Given the description of an element on the screen output the (x, y) to click on. 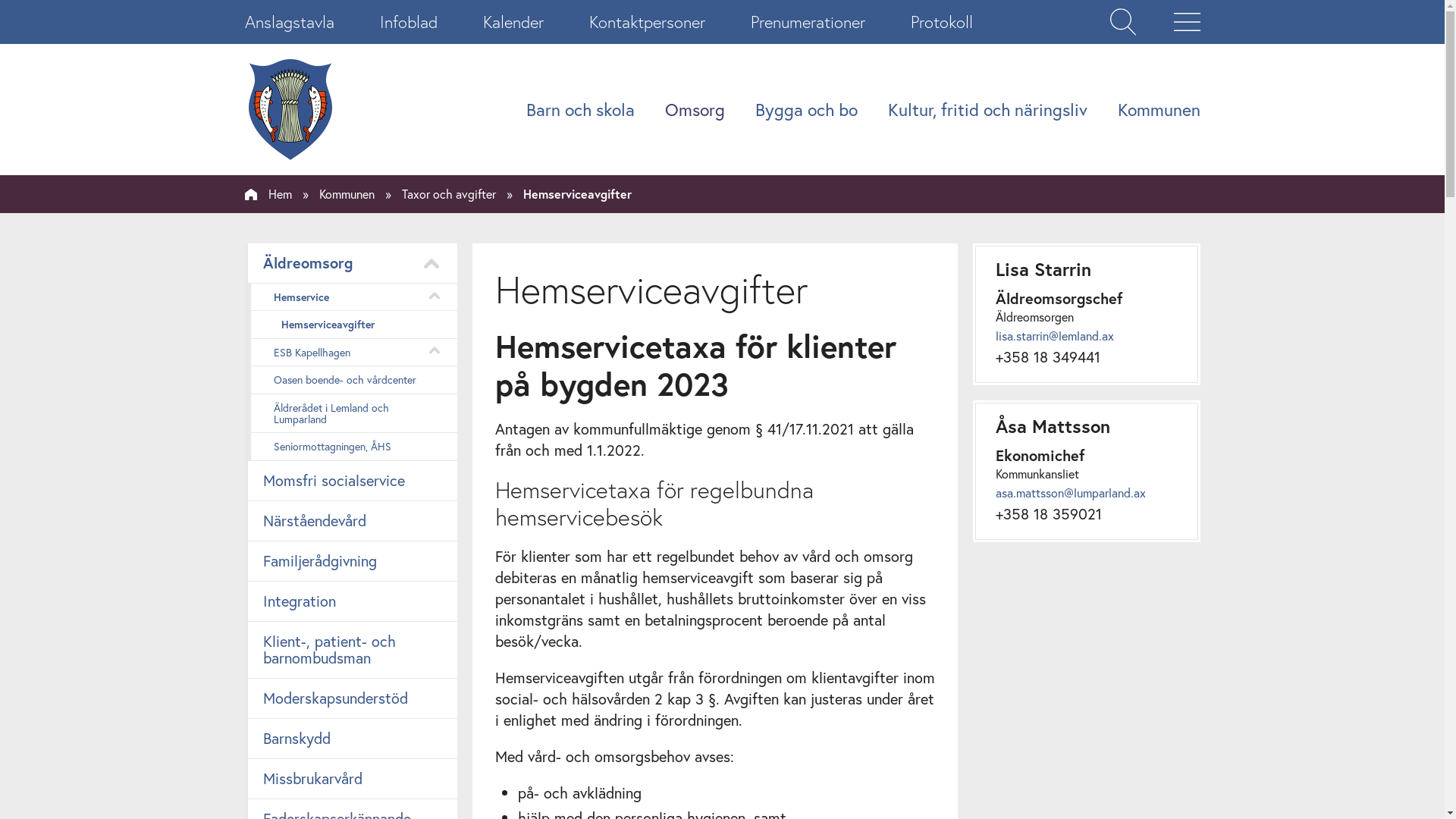
Anslagstavla Element type: text (288, 21)
Kommunen Element type: text (345, 193)
Integration Element type: text (350, 601)
Klient-, patient- och barnombudsman Element type: text (350, 649)
Taxor och avgifter Element type: text (448, 193)
Infoblad Element type: text (407, 21)
ESB Kapellhagen Element type: text (350, 352)
lisa.starrin@lemland.ax Element type: text (1053, 335)
Kommunen Element type: text (1158, 109)
asa.mattsson@lumparland.ax Element type: text (1069, 492)
Barnskydd Element type: text (350, 738)
Hemserviceavgifter Element type: text (350, 324)
Momsfri socialservice Element type: text (350, 481)
Prenumerationer Element type: text (807, 21)
Kalender Element type: text (512, 21)
Hem Element type: text (267, 193)
Protokoll Element type: text (941, 21)
Omsorg Element type: text (694, 109)
Hemservice Element type: text (350, 296)
Bygga och bo Element type: text (806, 109)
Barn och skola Element type: text (580, 109)
Kontaktpersoner Element type: text (646, 21)
